Given the description of an element on the screen output the (x, y) to click on. 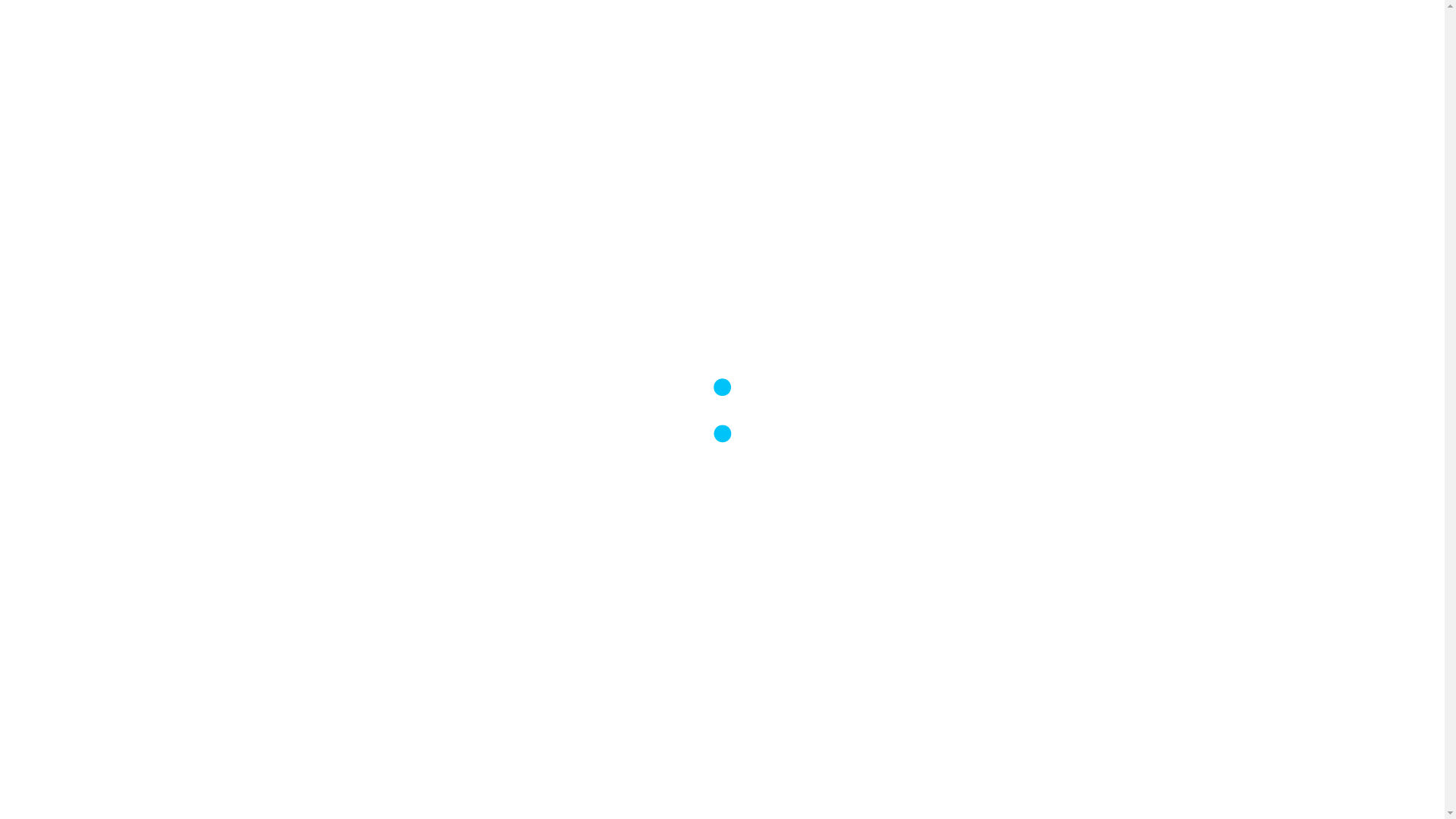
NEWS Element type: text (830, 22)
KONTAKT Element type: text (1108, 22)
ENGAGEMENTS Element type: text (975, 22)
TEAM Element type: text (1049, 22)
HOME Element type: text (781, 22)
ANGEBOT Element type: text (890, 22)
Impressum Element type: text (505, 25)
Zur Startseite Element type: hover (377, 22)
